Given the description of an element on the screen output the (x, y) to click on. 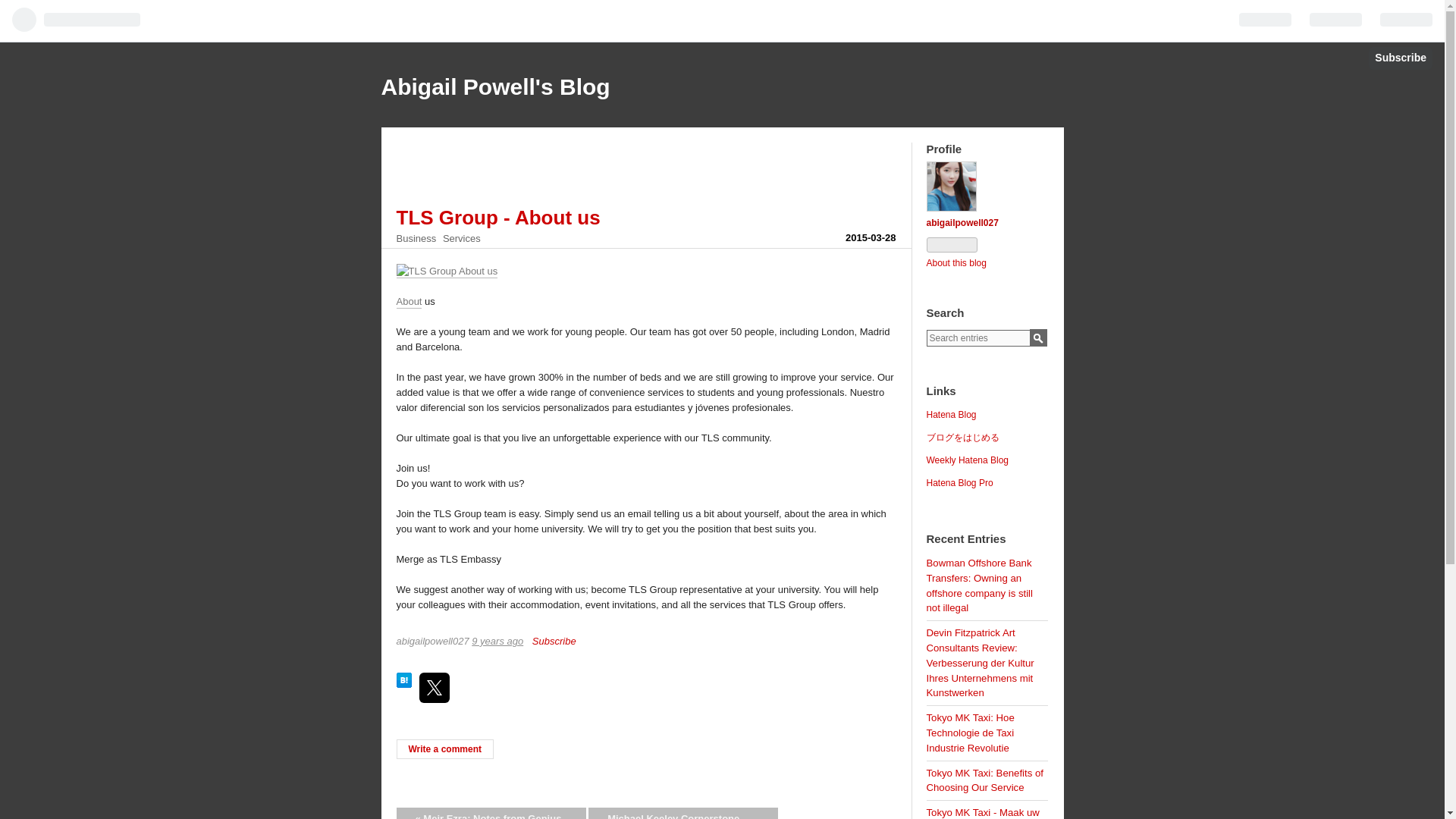
abigailpowell027 (962, 222)
2015-03-28T05:34:49Z (870, 237)
Search (1037, 337)
Recent Entries (966, 539)
Search (1037, 337)
Tokyo MK Taxi - Maak uw reis meer plezierig (982, 812)
Subscribe (554, 641)
Search (1037, 337)
2015-03-28T05:34:49Z (496, 641)
Tokyo MK Taxi: Hoe Technologie de Taxi Industrie Revolutie (970, 732)
Tokyo MK Taxi: Benefits of Choosing Our Service (984, 780)
Services (461, 238)
2015-03-28 (870, 237)
